Given the description of an element on the screen output the (x, y) to click on. 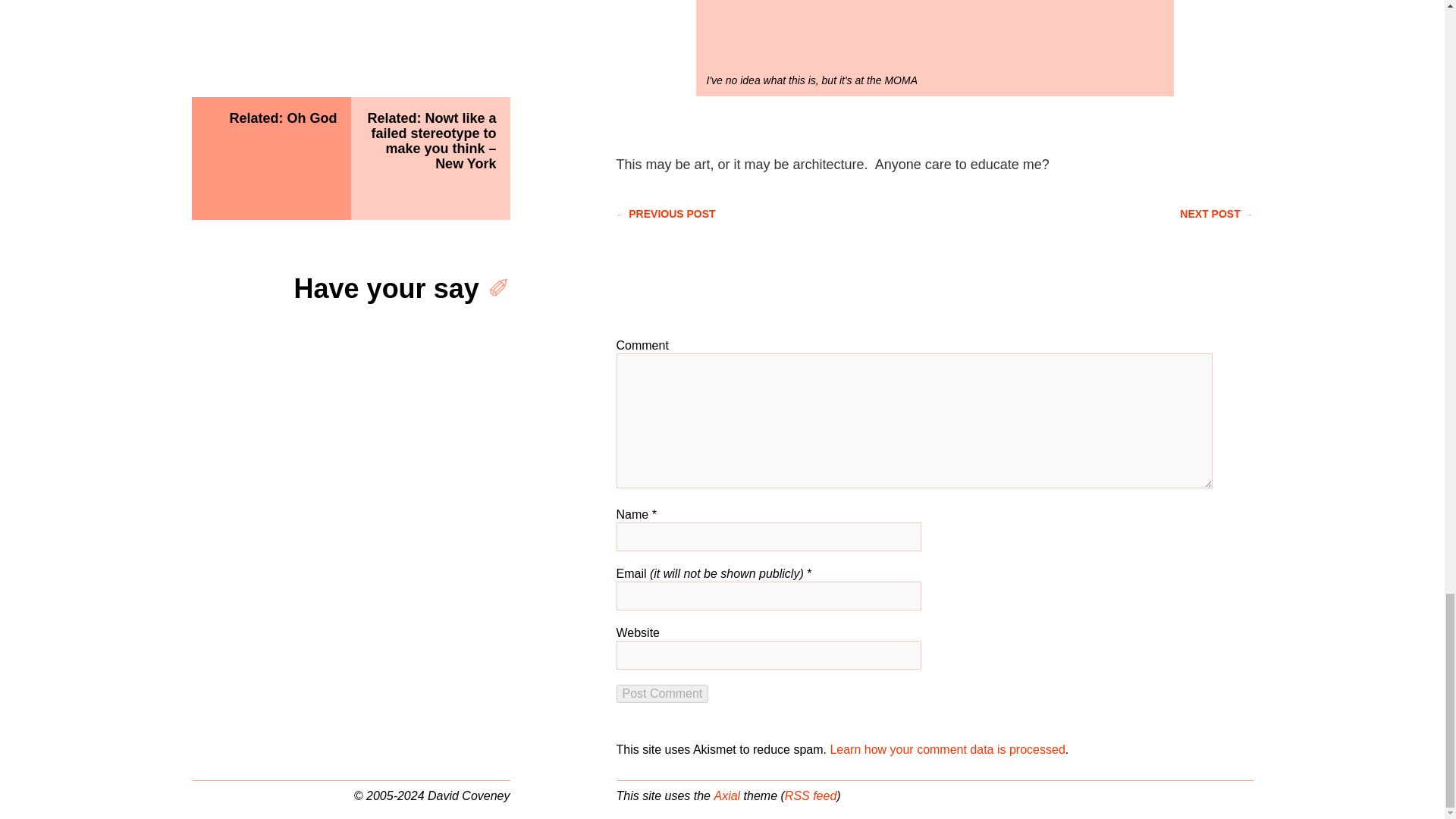
Related: Oh God (270, 158)
Post Comment (661, 693)
PREVIOUS POST (664, 214)
Colours (933, 33)
Post Comment (661, 693)
RSS feed (809, 795)
Axial (726, 795)
NEXT POST (1215, 214)
Learn how your comment data is processed (946, 748)
